Given the description of an element on the screen output the (x, y) to click on. 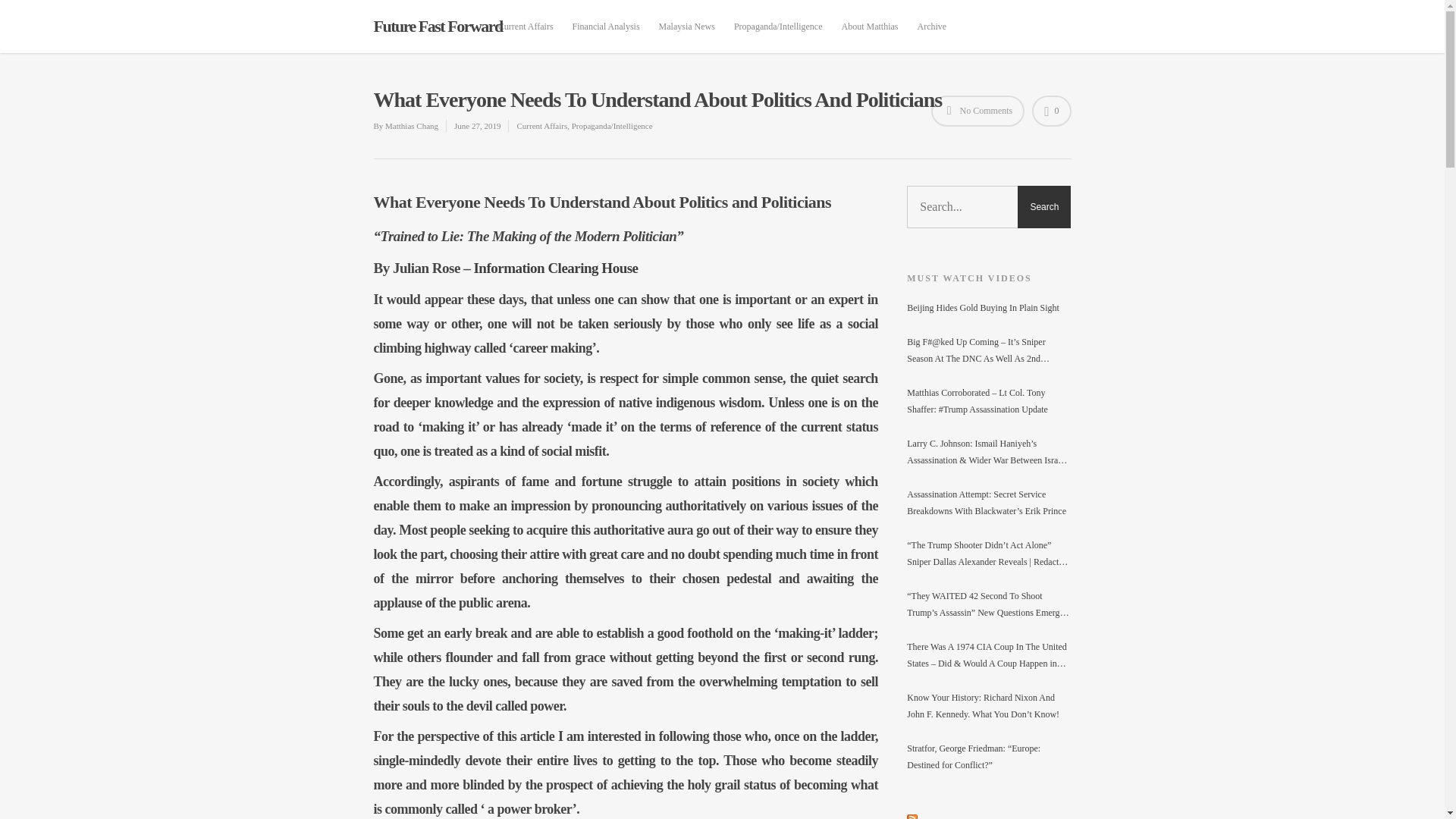
0 (1051, 110)
Archive (932, 34)
Search (1043, 206)
Love this (1051, 110)
Search (1043, 206)
Beijing Hides Gold Buying In Plain Sight (988, 307)
Future Fast Forward (437, 26)
Posts by Matthias Chang (411, 125)
Financial Analysis (605, 34)
Search (1043, 206)
